Given the description of an element on the screen output the (x, y) to click on. 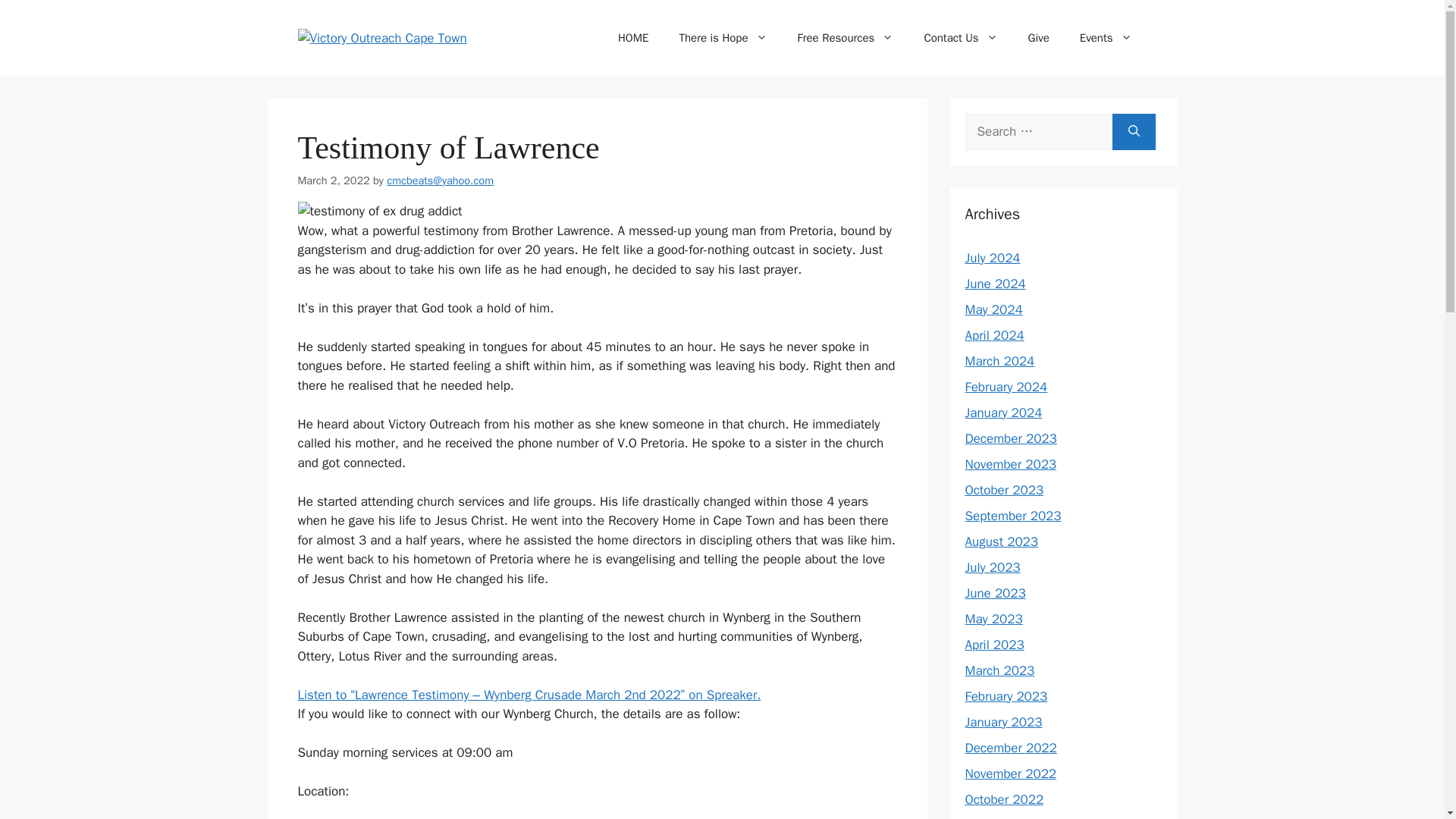
On Demand Sermons (845, 37)
January 2024 (1002, 412)
There is Hope (722, 37)
Give (1038, 37)
Search for: (1037, 131)
November 2023 (1010, 464)
July 2024 (991, 258)
Contact Us (959, 37)
HOME (632, 37)
September 2023 (1012, 515)
October 2023 (1003, 489)
June 2024 (994, 283)
February 2024 (1004, 386)
December 2023 (1010, 438)
Free Resources (845, 37)
